Given the description of an element on the screen output the (x, y) to click on. 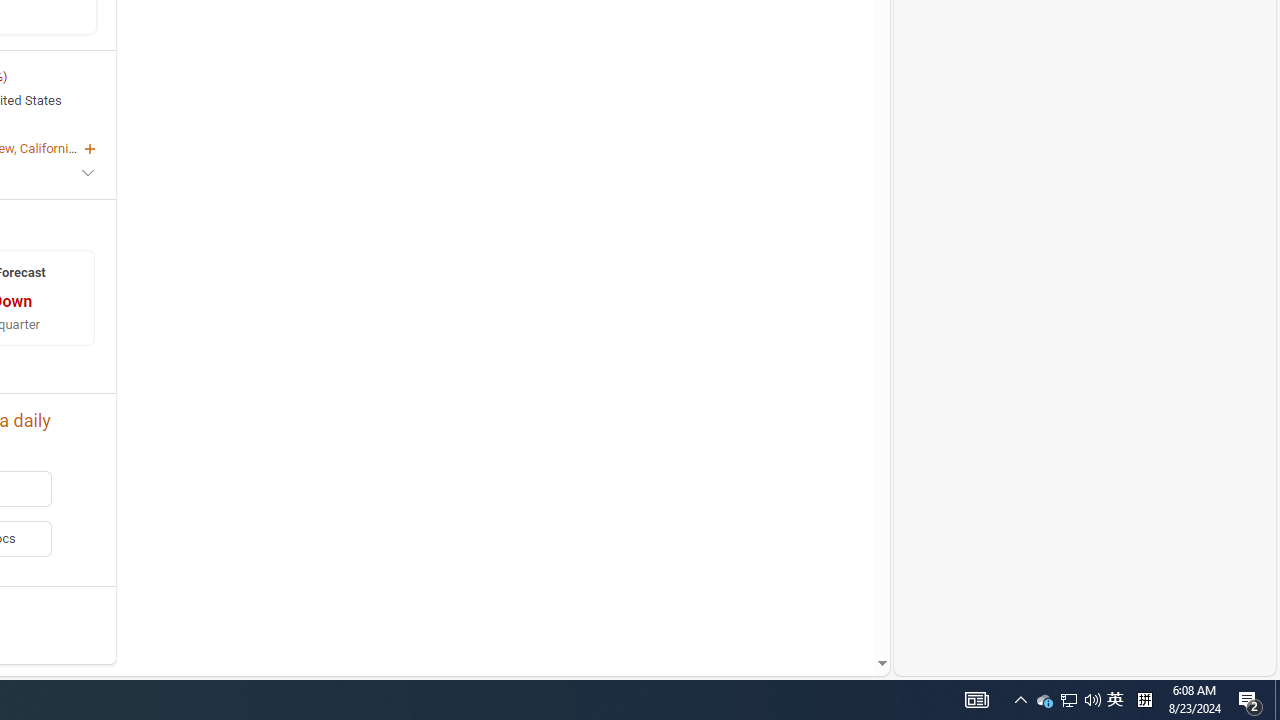
AutomationID: mfa_root (806, 603)
Search more (836, 604)
